Given the description of an element on the screen output the (x, y) to click on. 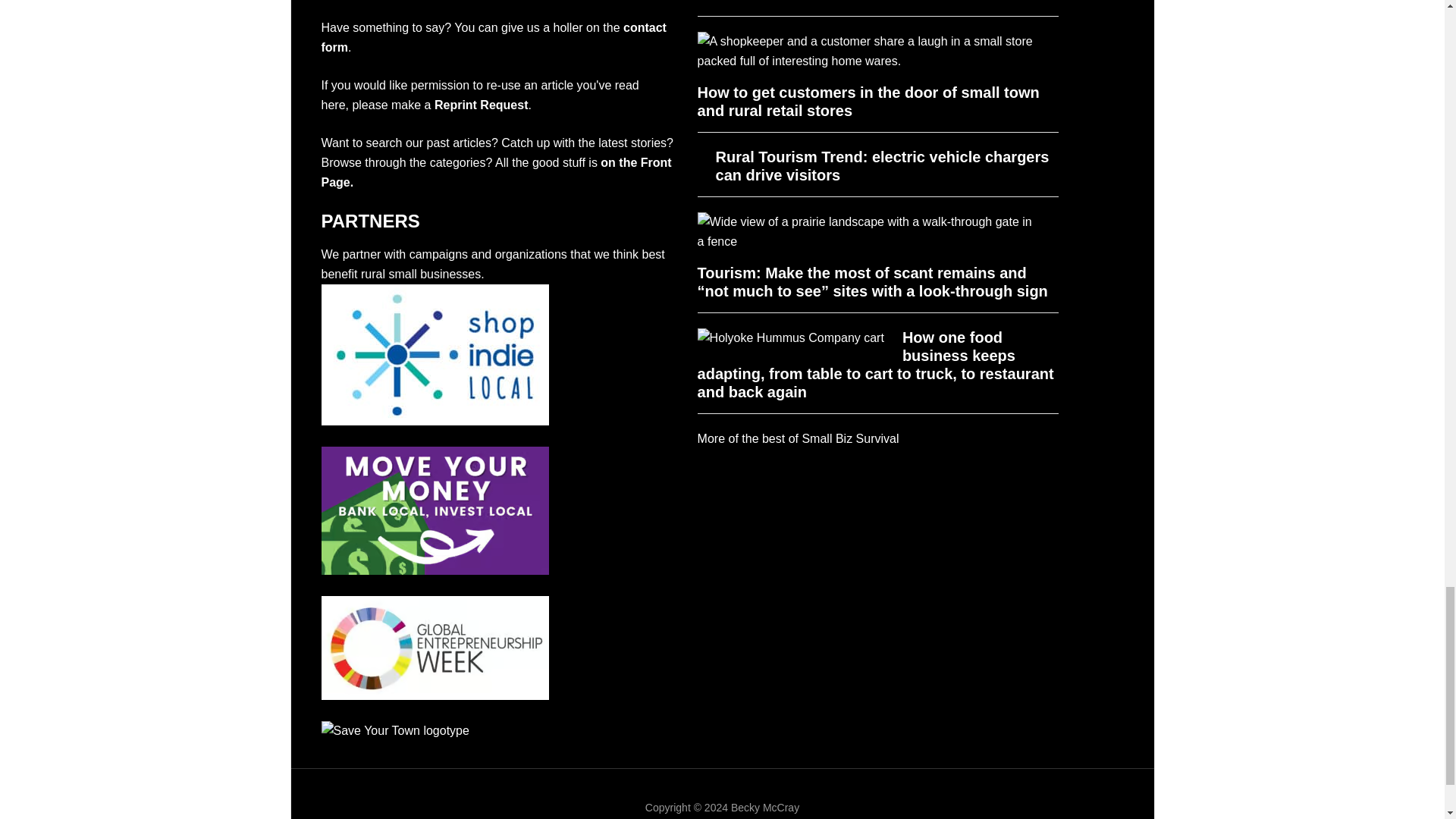
Reprint requests (480, 104)
